Given the description of an element on the screen output the (x, y) to click on. 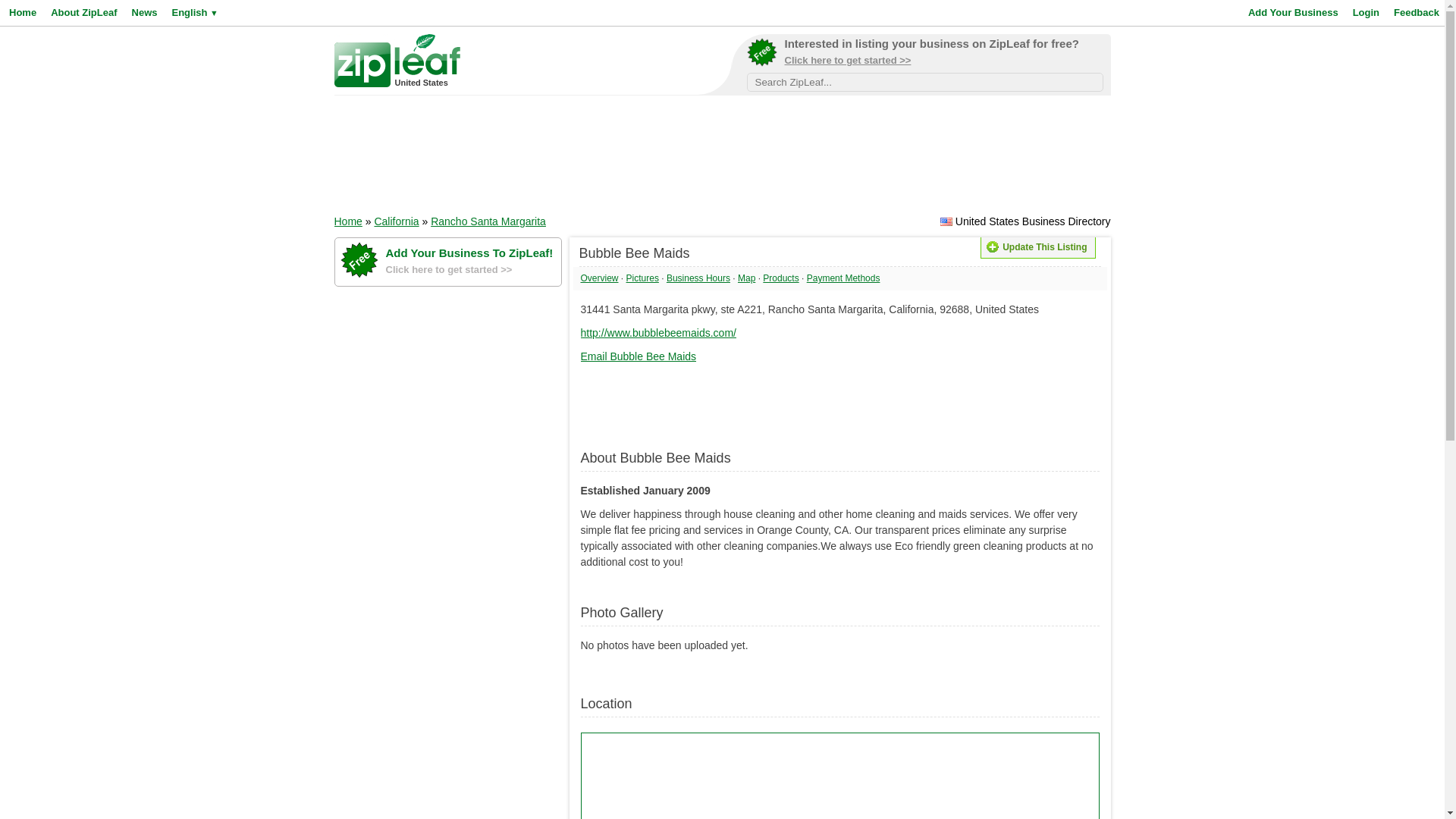
Pictures (642, 277)
California (396, 221)
Add your business to ZipLeaf (923, 54)
Home (347, 221)
Update This Listing (1036, 247)
About ZipLeaf (81, 12)
Home (347, 221)
Browse all companies in California, United States (396, 221)
Feedback (1414, 12)
Home (20, 12)
Email Bubble Bee Maids (638, 356)
Overview (599, 277)
Rancho Santa Margarita (488, 221)
Add Your Business (1291, 12)
